Given the description of an element on the screen output the (x, y) to click on. 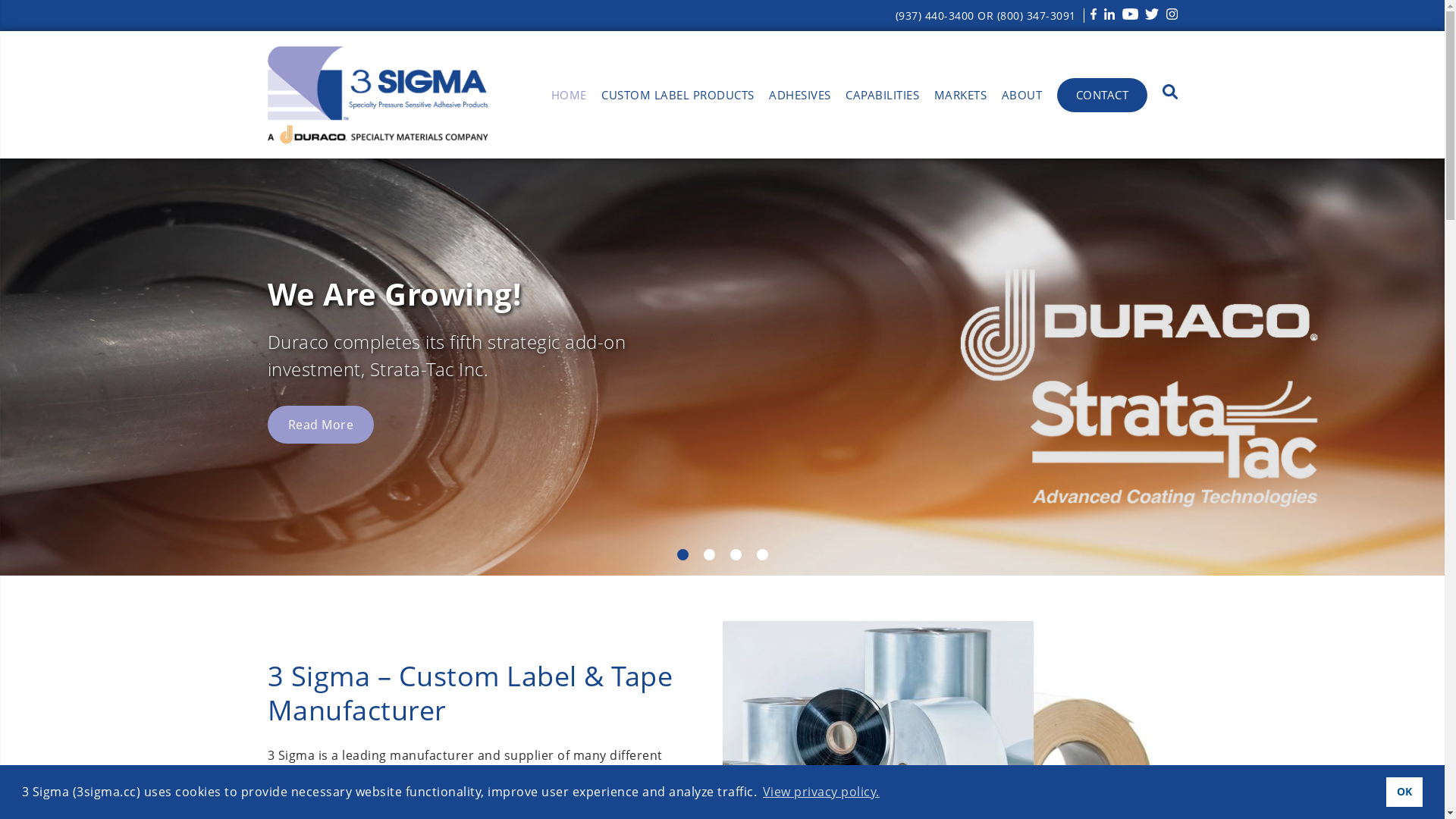
icon-facebook Element type: hover (1093, 13)
3 Element type: text (734, 554)
MARKETS Element type: text (960, 98)
icon-youtube Element type: hover (1130, 13)
CAPABILITIES Element type: text (882, 98)
(937) 440-3400 Element type: text (934, 15)
Search Element type: hover (1169, 93)
icon-linkedin Element type: hover (1109, 13)
icon-twitter Element type: hover (1151, 13)
Read More Element type: text (319, 424)
ADHESIVES Element type: text (799, 98)
1 Element type: text (681, 554)
(800) 347-3091 Element type: text (1036, 15)
3 Sigma Element type: hover (376, 94)
HOME Element type: text (568, 98)
CONTACT Element type: text (1102, 95)
2 Element type: text (709, 554)
View privacy policy. Element type: text (820, 791)
4 Element type: text (762, 554)
OK Element type: text (1404, 791)
ABOUT Element type: text (1021, 98)
CUSTOM LABEL PRODUCTS Element type: text (677, 98)
icon-instagram Element type: hover (1171, 13)
